Given the description of an element on the screen output the (x, y) to click on. 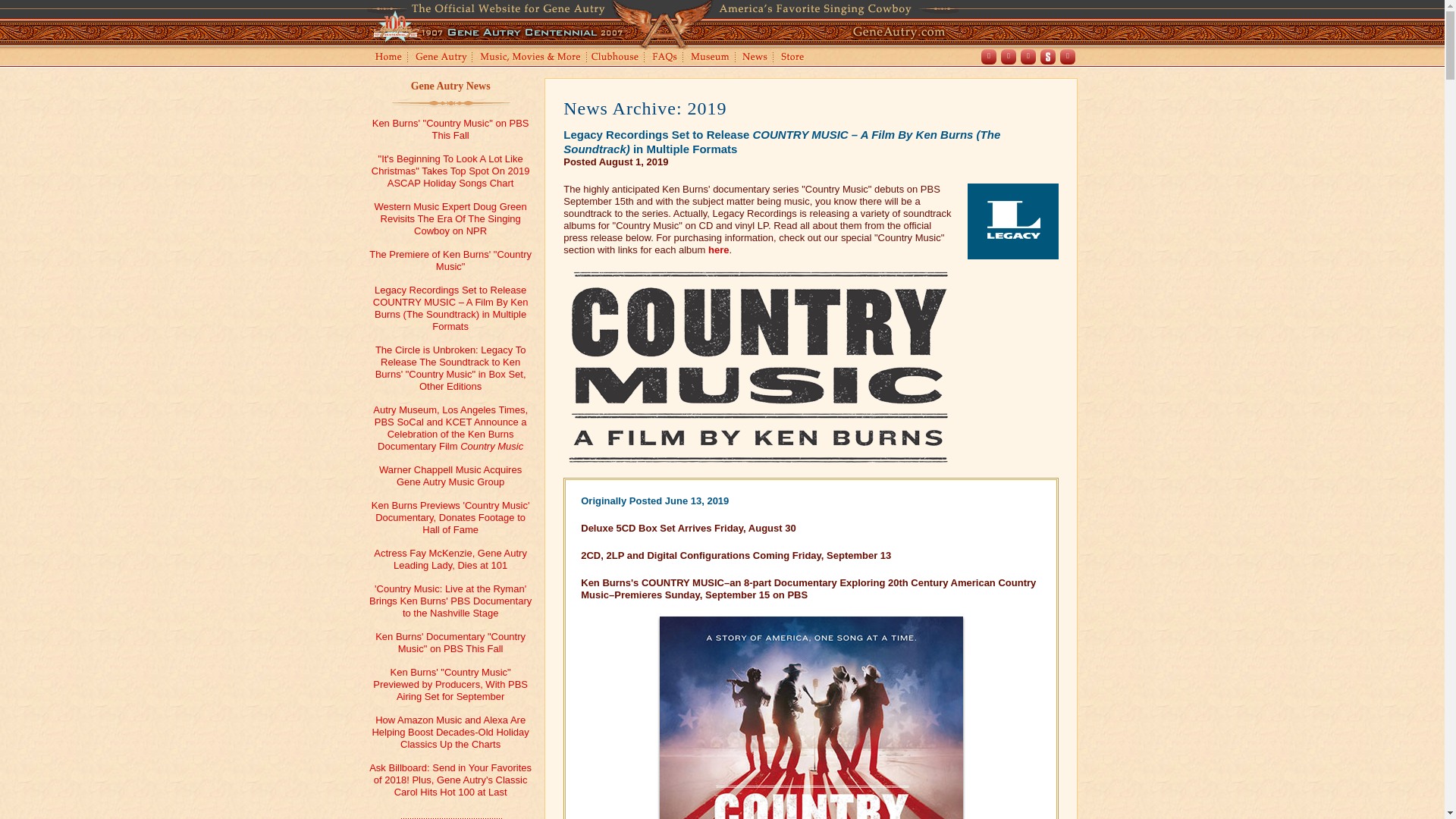
Shout! TV (1048, 56)
Museum (710, 57)
Ken Burns' "Country Music" on PBS This Fall (450, 128)
News (755, 57)
Warner Chappell Music Acquires Gene Autry Music Group (449, 475)
Home (386, 57)
Facebook (988, 56)
Youtube (1008, 56)
Store (794, 57)
